Given the description of an element on the screen output the (x, y) to click on. 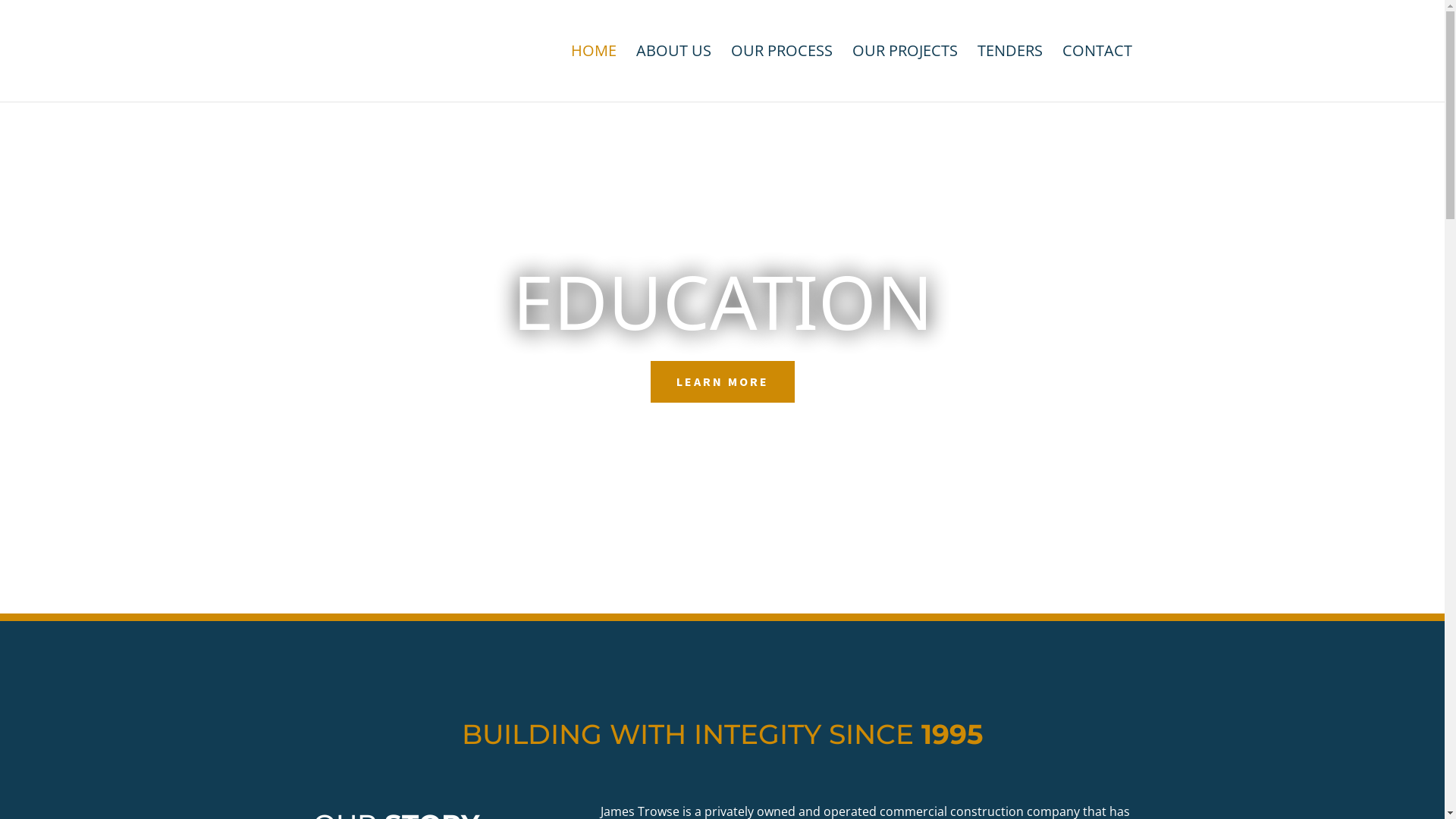
EDUCATION Element type: text (722, 300)
OUR PROCESS Element type: text (781, 73)
HOME Element type: text (592, 73)
LEARN MORE Element type: text (722, 381)
CONTACT Element type: text (1096, 73)
OUR PROJECTS Element type: text (904, 73)
TENDERS Element type: text (1008, 73)
ABOUT US Element type: text (672, 73)
